Given the description of an element on the screen output the (x, y) to click on. 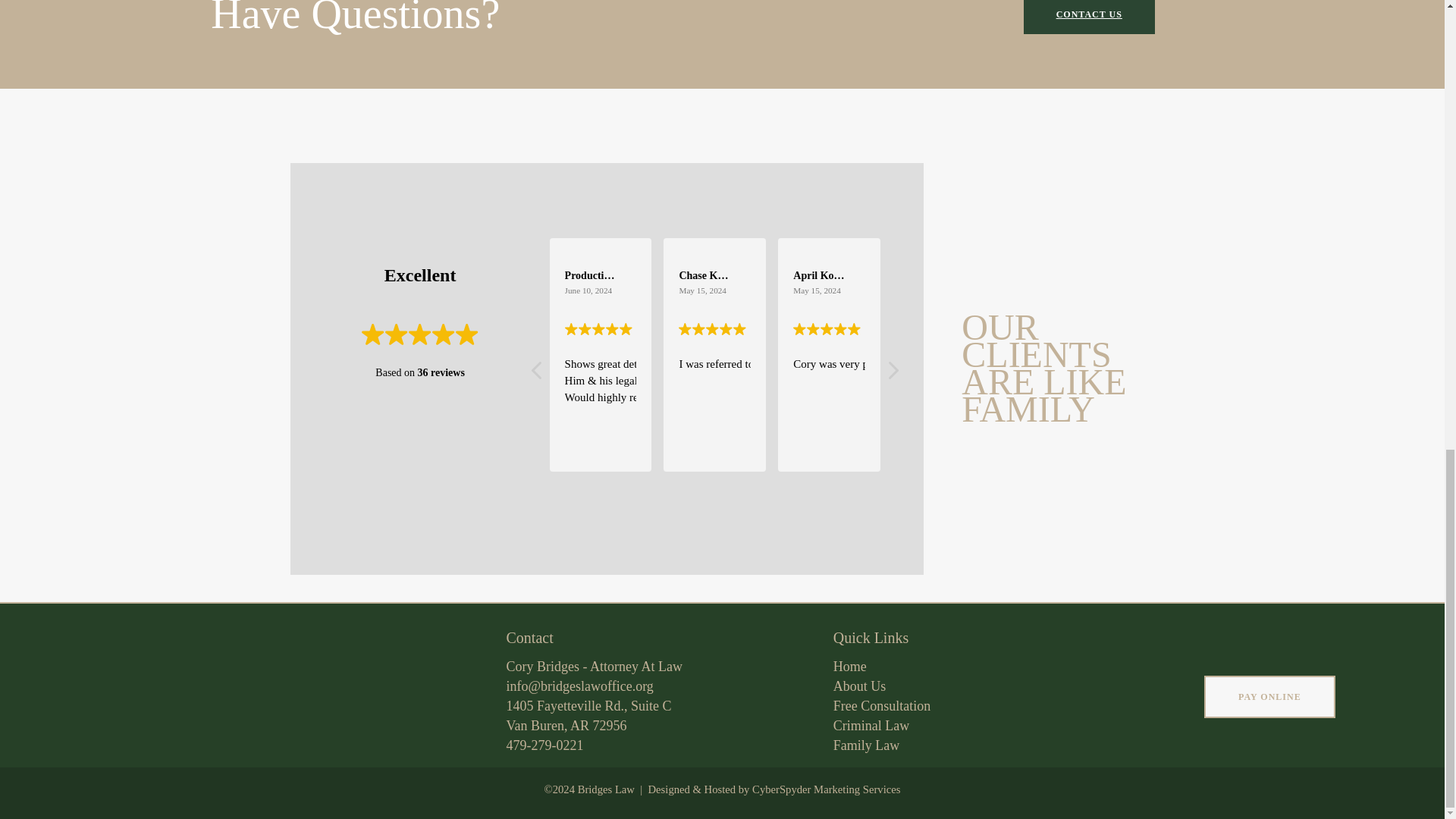
Family Law (865, 744)
Criminal Law (870, 725)
CONTACT US (1088, 17)
Contact (588, 715)
About Us (529, 637)
Home (859, 685)
479-279-0221 (849, 666)
Cory Bridges - Attorney At Law (544, 744)
Free Consultation (594, 666)
